Given the description of an element on the screen output the (x, y) to click on. 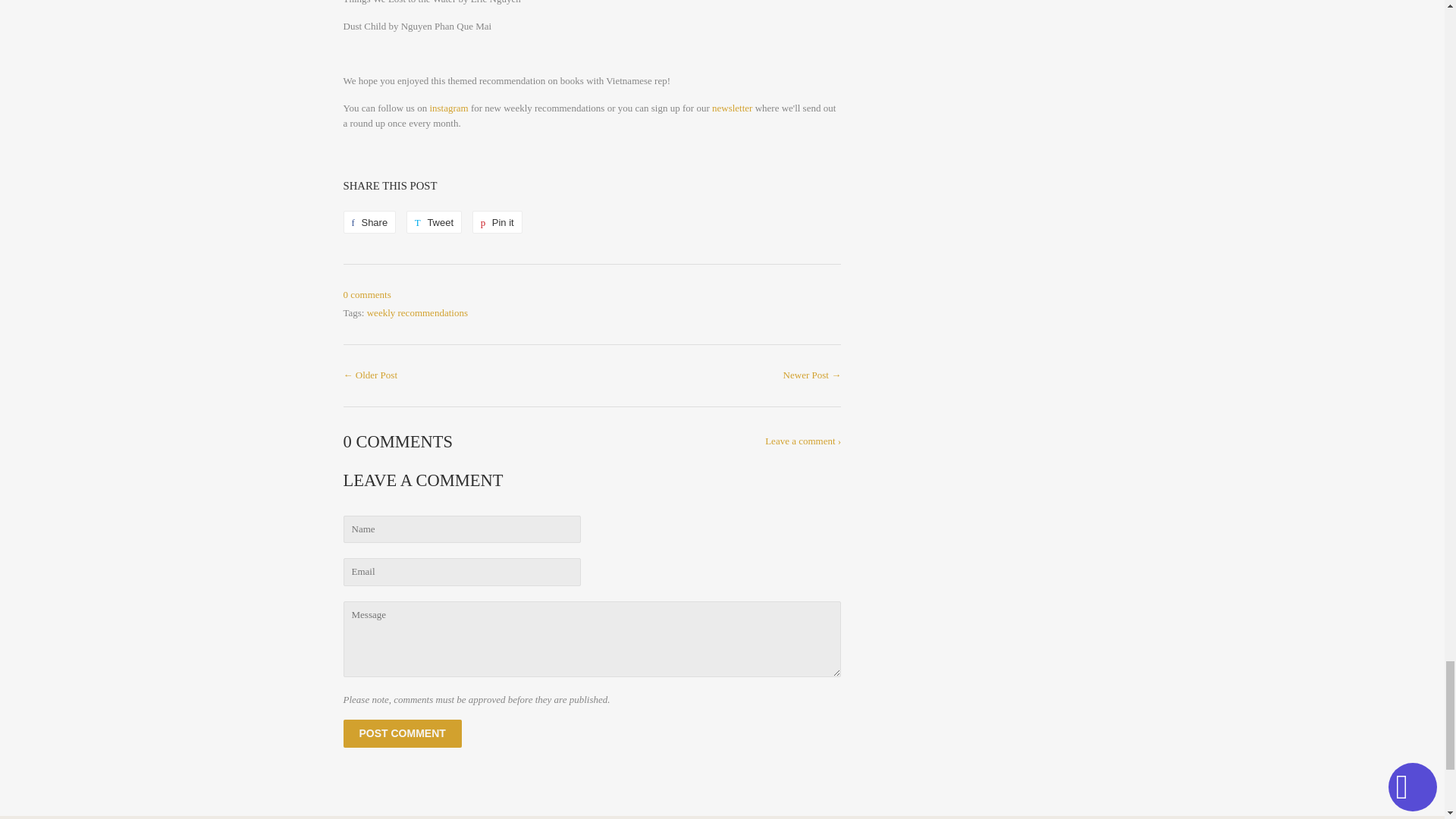
Pin on Pinterest (496, 221)
Post comment (401, 733)
Tweet on Twitter (496, 221)
instagram (369, 221)
Share on Facebook (433, 221)
Post comment (448, 107)
newsletter (433, 221)
0 comments (369, 221)
weekly recommendations (401, 733)
